Given the description of an element on the screen output the (x, y) to click on. 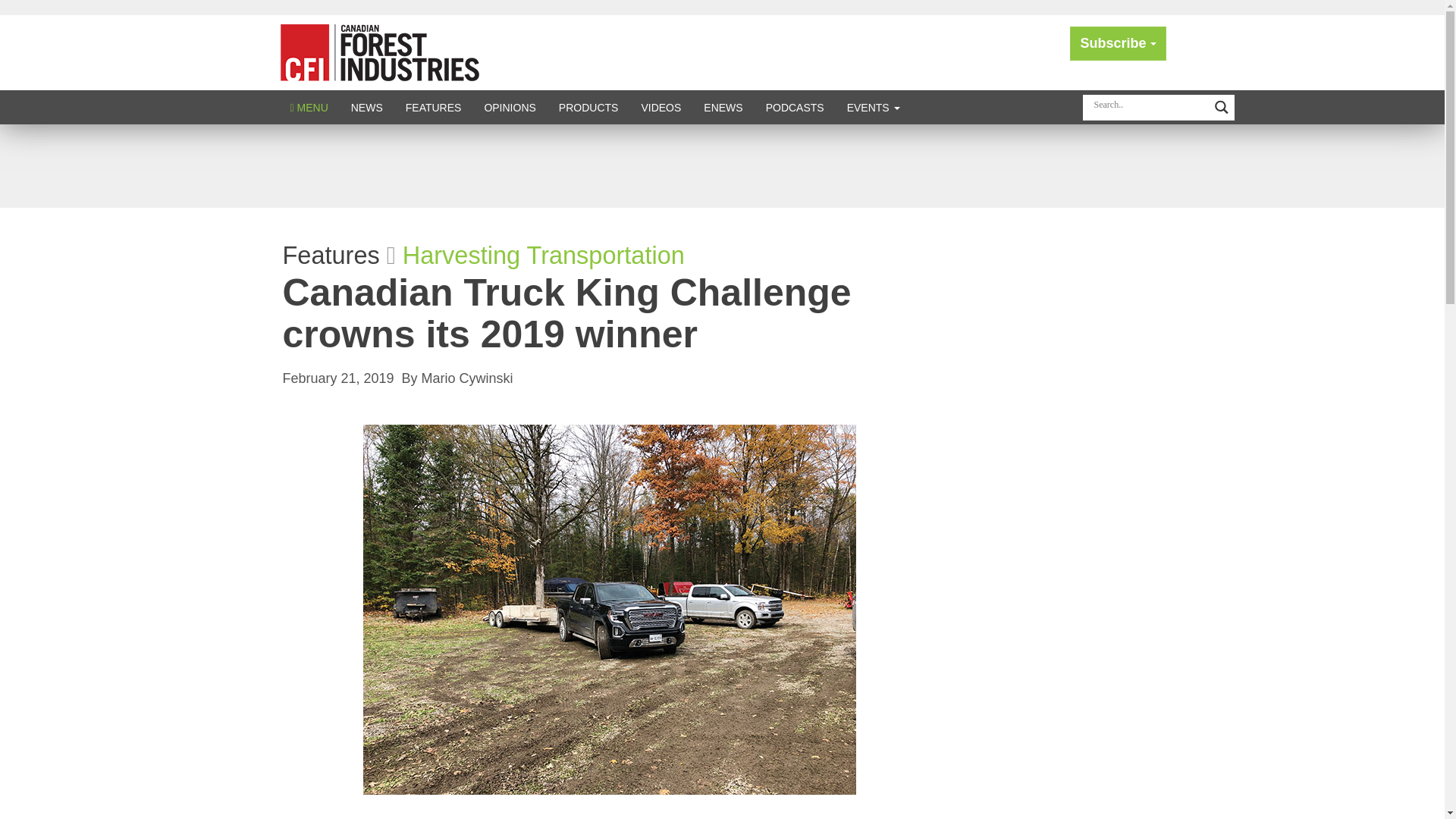
OPINIONS (509, 107)
3rd party ad content (721, 165)
PODCASTS (794, 107)
ENEWS (723, 107)
EVENTS (873, 107)
VIDEOS (660, 107)
MENU (309, 107)
Subscribe (1118, 43)
Click to show site navigation (309, 107)
FEATURES (433, 107)
